Given the description of an element on the screen output the (x, y) to click on. 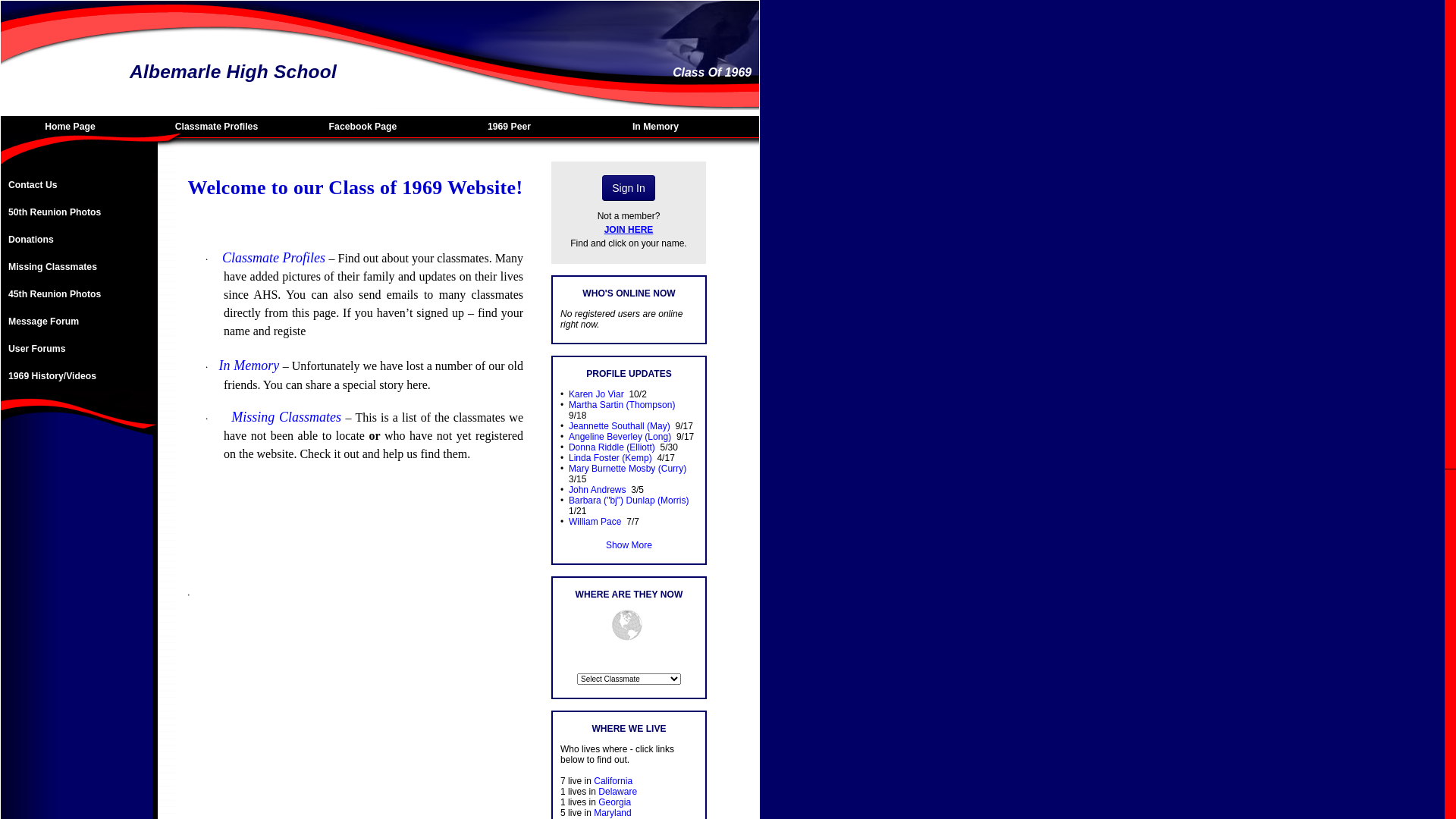
Message Forum Element type: text (76, 321)
50th Reunion Photos Element type: text (76, 211)
John Andrews Element type: text (597, 489)
Angeline Beverley (Long) Element type: text (619, 436)
1969 Peer Element type: text (512, 126)
Home Page Element type: text (73, 126)
Donna Riddle (Elliott) Element type: text (611, 447)
Facebook Page Element type: text (366, 126)
Mary Burnette Mosby (Curry) Element type: text (627, 468)
Classmate Profiles Element type: text (273, 257)
In Memory Element type: text (249, 365)
Show More Element type: text (628, 544)
Linda Foster (Kemp) Element type: text (610, 457)
Karen Jo Viar Element type: text (596, 394)
Missing Classmates Element type: text (76, 266)
Barbara ("bj") Dunlap (Morris) Element type: text (628, 500)
Classmate Profiles Element type: text (220, 126)
Georgia Element type: text (614, 802)
Jeannette Southall (May) Element type: text (619, 425)
JOIN HERE Element type: text (628, 229)
Sign In Element type: text (628, 187)
45th Reunion Photos Element type: text (76, 293)
Delaware Element type: text (617, 791)
Donations Element type: text (76, 239)
Maryland Element type: text (612, 812)
Contact Us Element type: text (76, 184)
In Memory Element type: text (659, 126)
William Pace Element type: text (594, 521)
Martha Sartin (Thompson) Element type: text (621, 404)
User Forums Element type: text (76, 348)
California Element type: text (612, 780)
1969 History/Videos Element type: text (76, 375)
Missing Classmates Element type: text (286, 416)
